Given the description of an element on the screen output the (x, y) to click on. 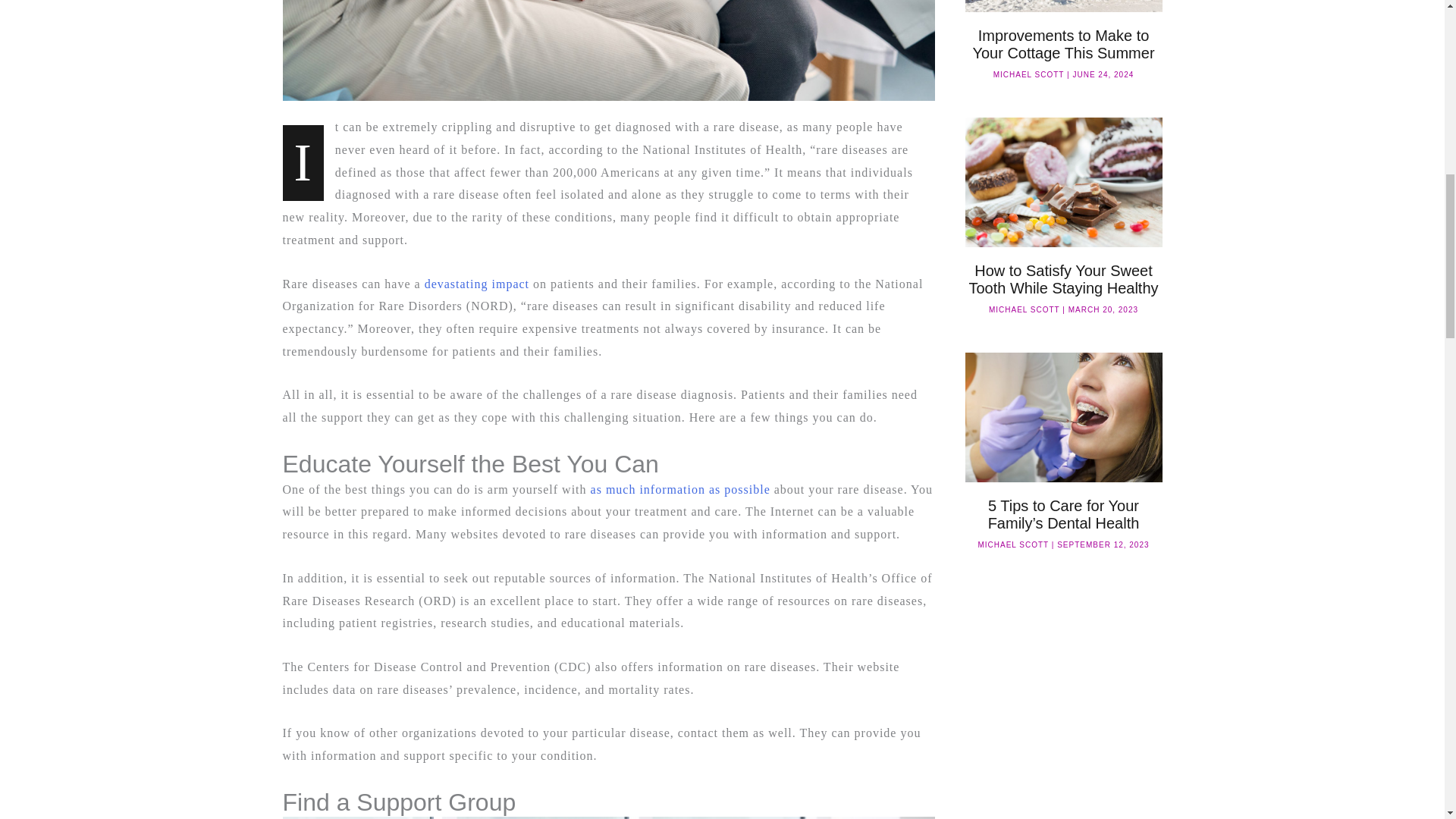
devastating impact (477, 283)
as much information as possible (680, 489)
